Given the description of an element on the screen output the (x, y) to click on. 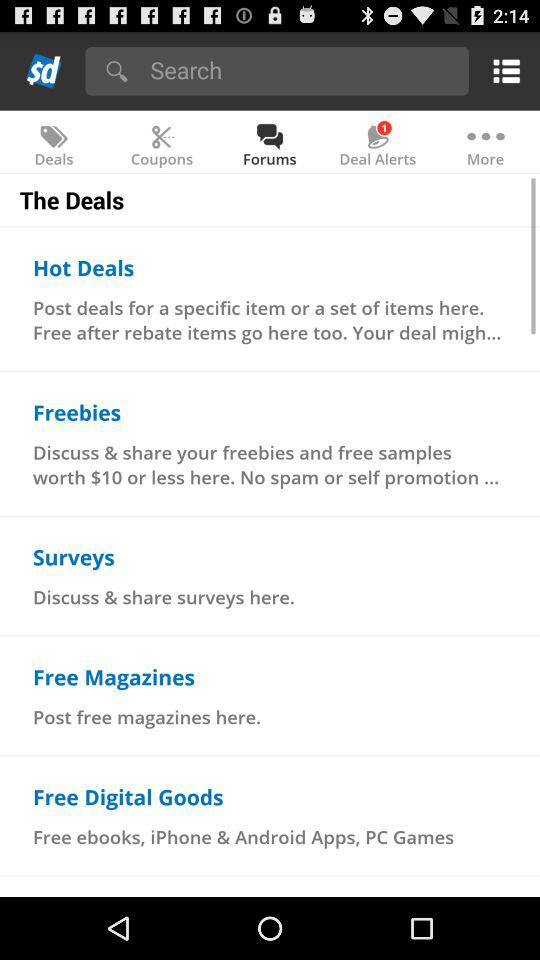
search (302, 69)
